Given the description of an element on the screen output the (x, y) to click on. 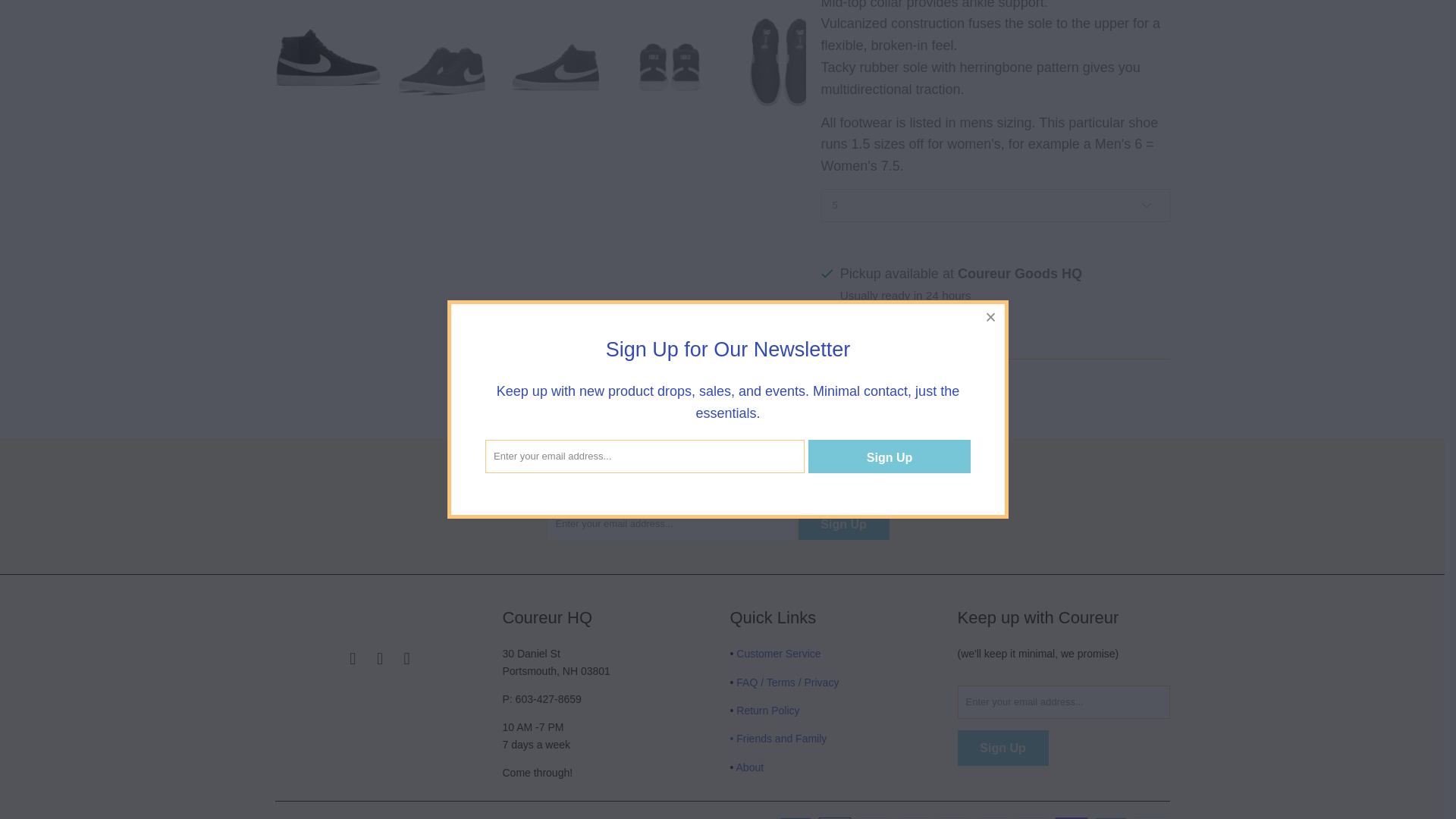
Meta Pay (914, 817)
Visa (1150, 817)
Venmo (1112, 817)
American Express (796, 817)
Discover (875, 817)
PayPal (1032, 817)
Shop Pay (1072, 817)
Apple Pay (836, 817)
Mastercard (993, 817)
Google Pay (954, 817)
